Given the description of an element on the screen output the (x, y) to click on. 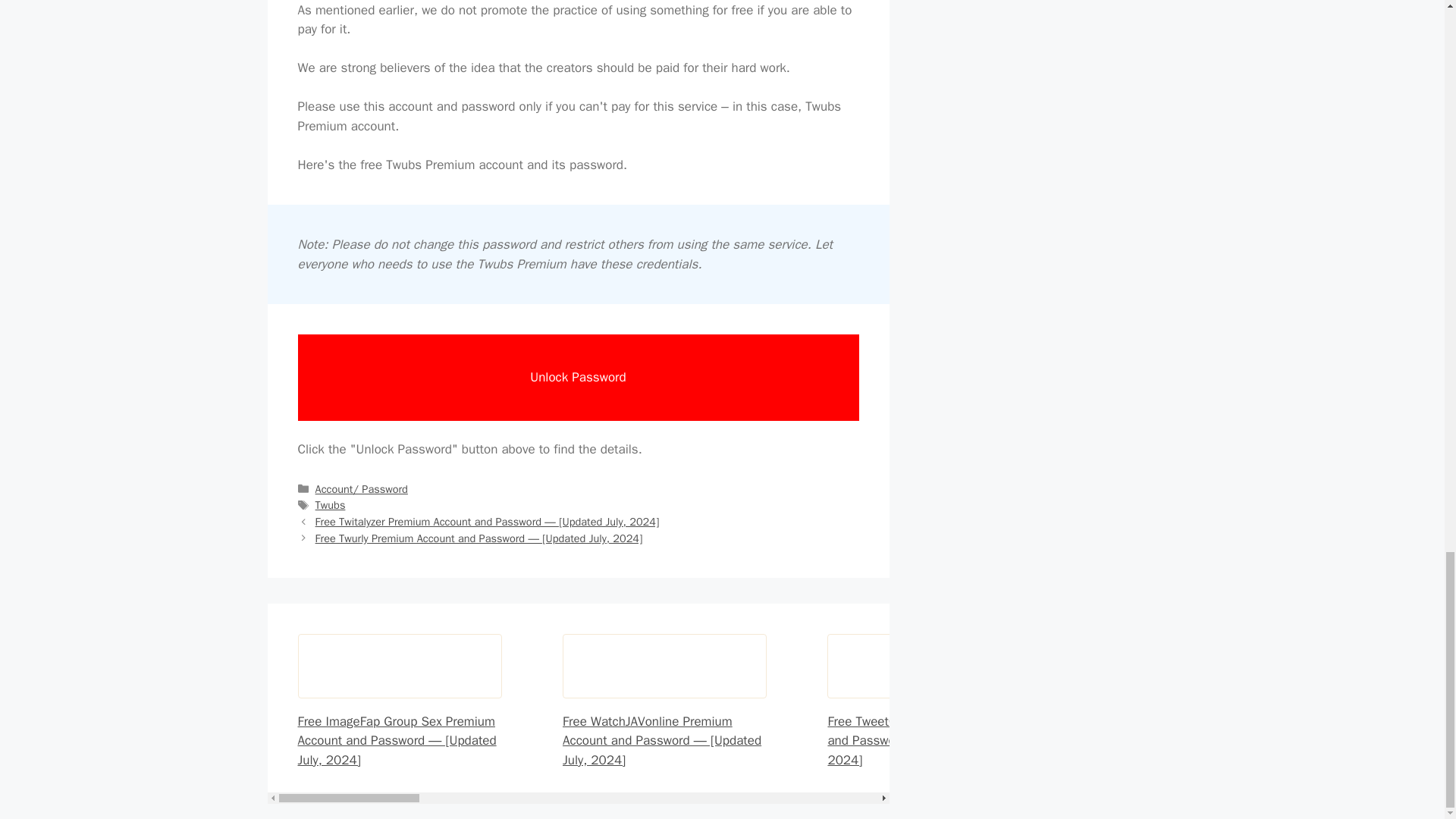
Next (479, 538)
Unlock Password (578, 377)
Previous (487, 521)
Twubs (330, 504)
